Given the description of an element on the screen output the (x, y) to click on. 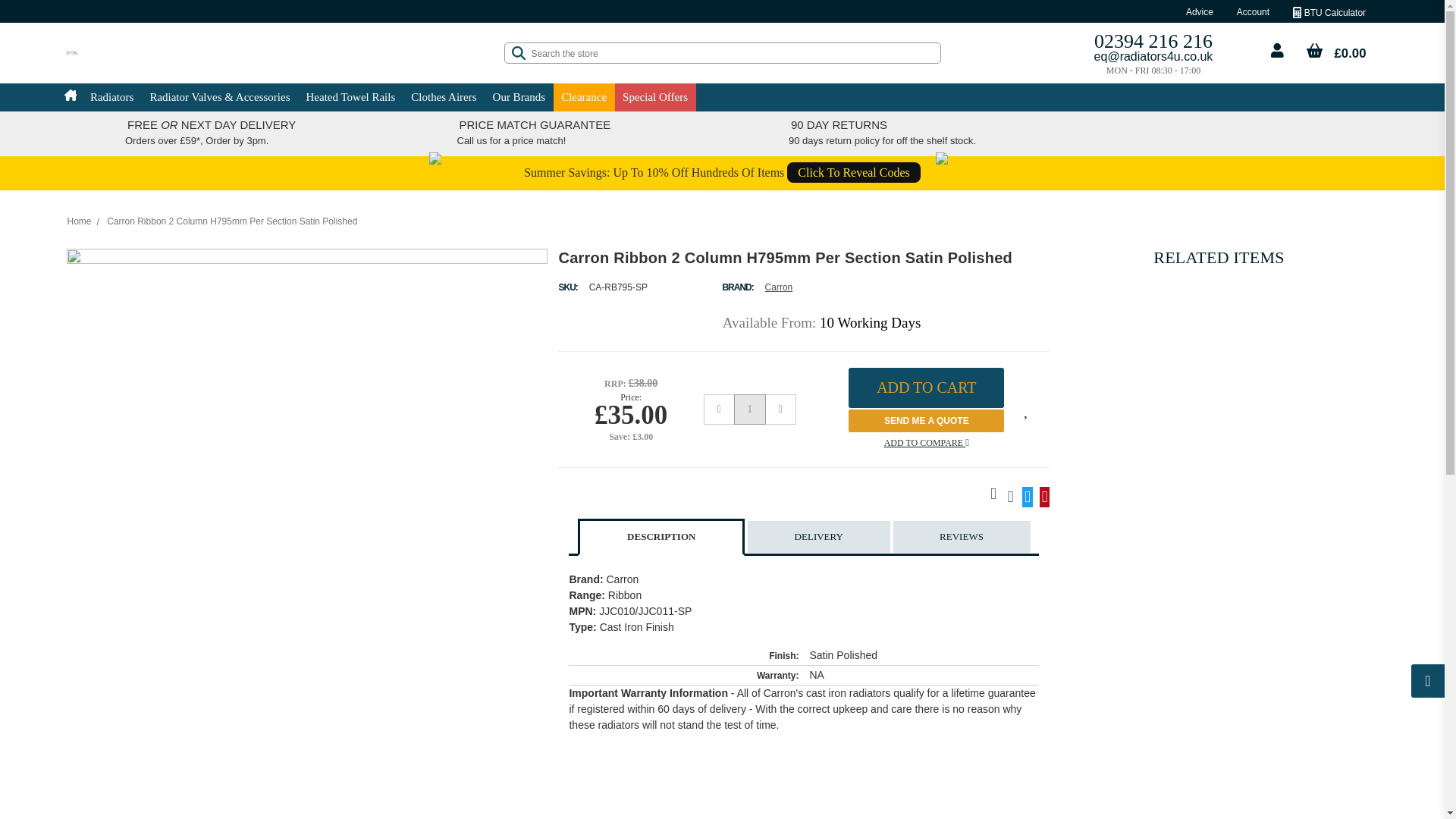
SMR Enterprises Ltd - Account Level Billing (72, 52)
02394 216 216 (1153, 38)
Compare (926, 441)
Radiators (111, 97)
BTU Calculator (1329, 12)
Add to Cart (926, 387)
Price Match Guarantee (423, 133)
Free or Next Day Delivery (91, 133)
Free or Next Day Delivery (755, 133)
1 (749, 409)
Free or Next Day Delivery (1086, 133)
MON - FRI 08:30 - 17:00 (1152, 69)
